Given the description of an element on the screen output the (x, y) to click on. 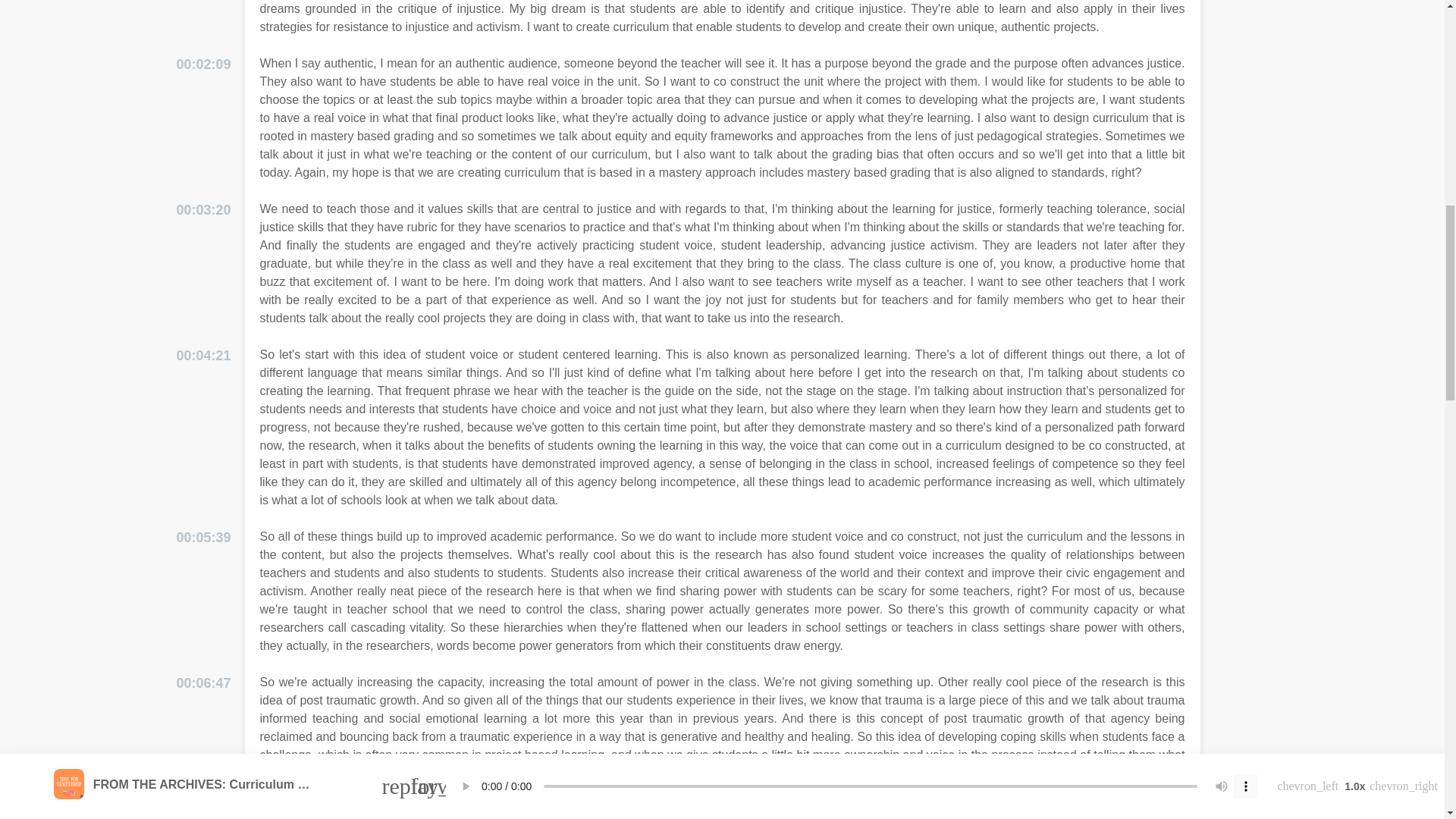
00:02:09 (203, 64)
00:06:47 (203, 683)
00:03:20 (203, 209)
00:04:21 (203, 355)
00:05:39 (203, 537)
